Given the description of an element on the screen output the (x, y) to click on. 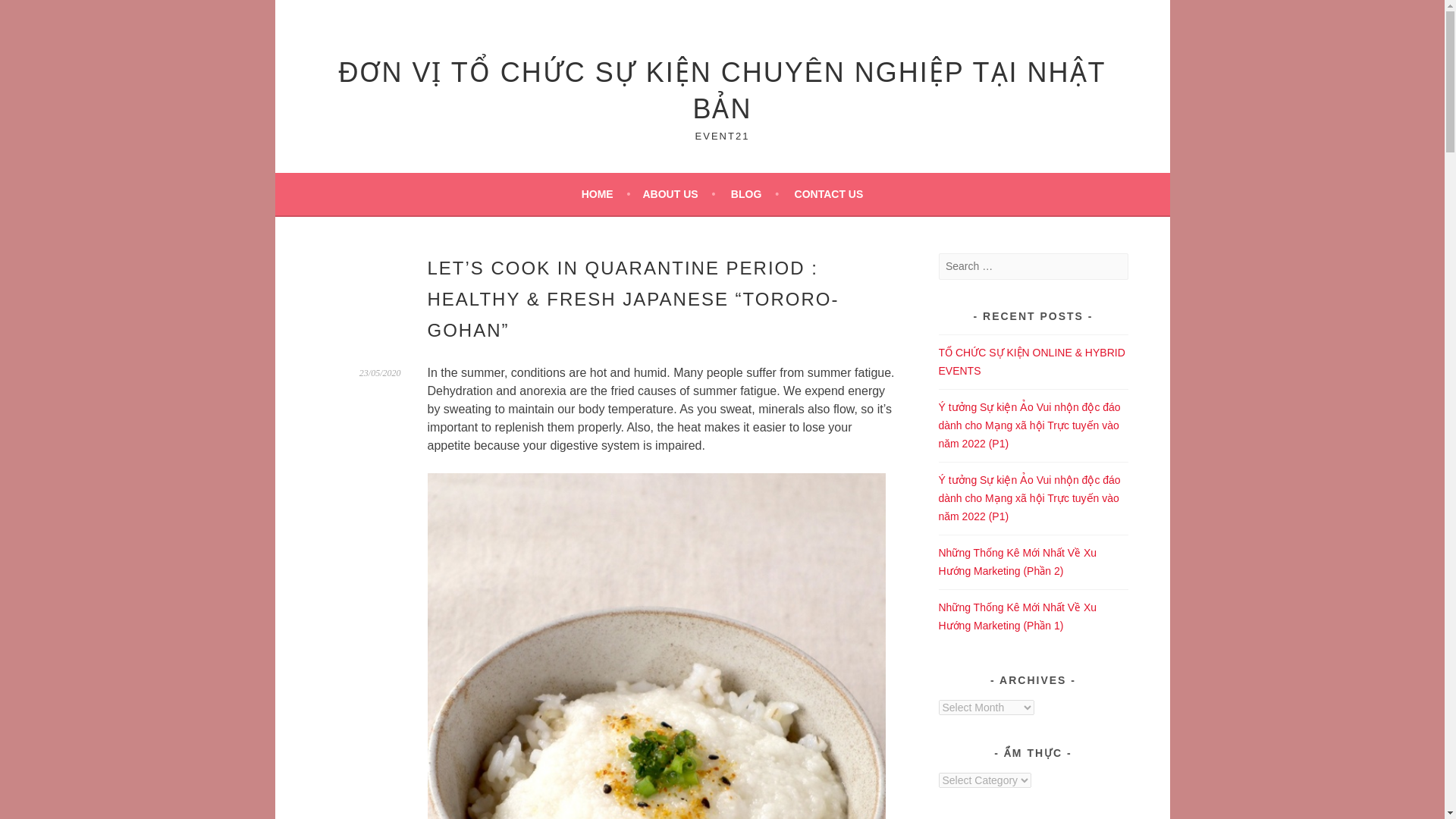
Search (30, 13)
HOME (605, 194)
ABOUT US (678, 194)
CONTACT US (828, 194)
BLOG (754, 194)
